Given the description of an element on the screen output the (x, y) to click on. 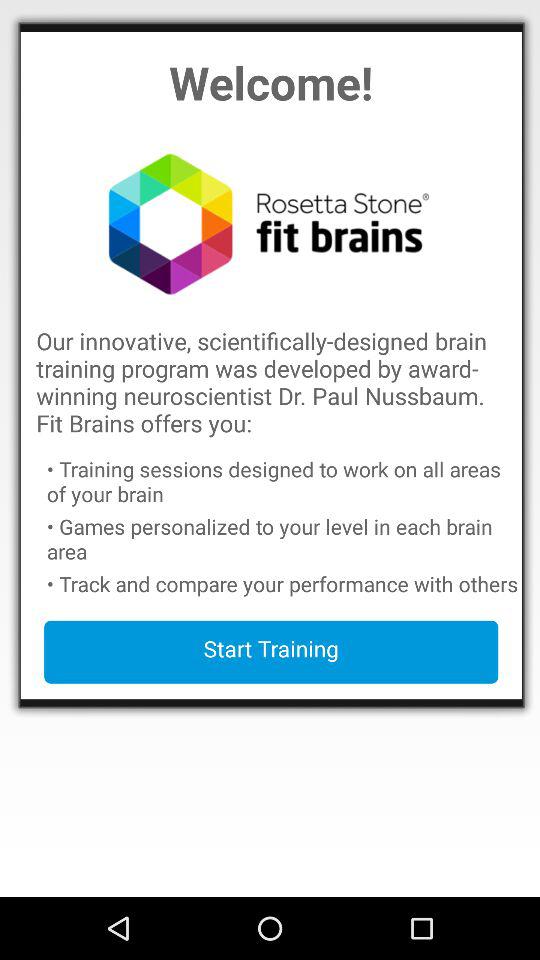
click icon at the bottom (271, 651)
